Given the description of an element on the screen output the (x, y) to click on. 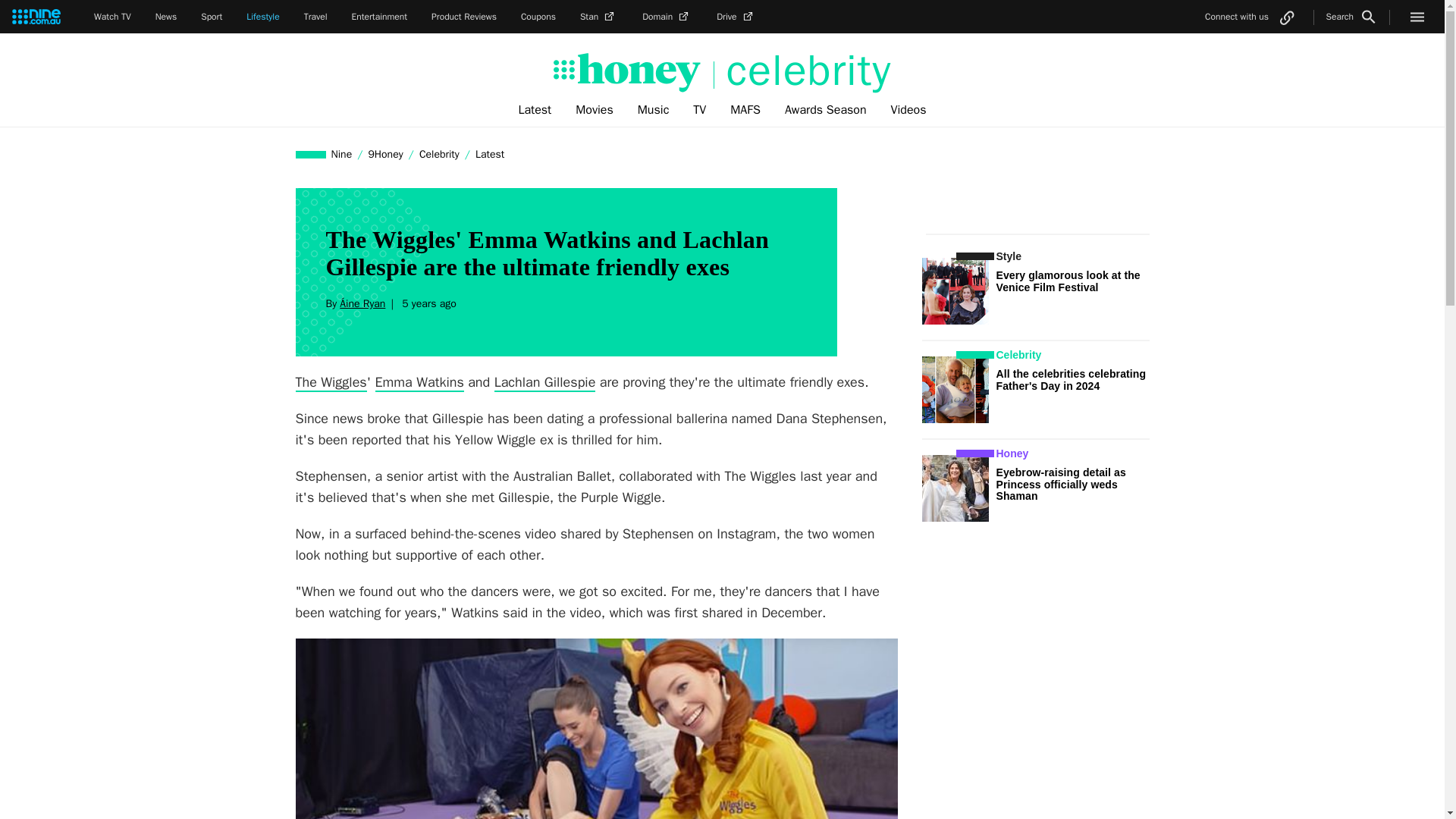
Celebrity (438, 154)
Product Reviews (463, 16)
Lifestyle (262, 16)
Nine (342, 154)
Stan (598, 16)
Lachlan Gillespie (545, 382)
Watch TV (112, 16)
Movies (594, 109)
9Honey (384, 154)
Emma Watkins (419, 382)
